Given the description of an element on the screen output the (x, y) to click on. 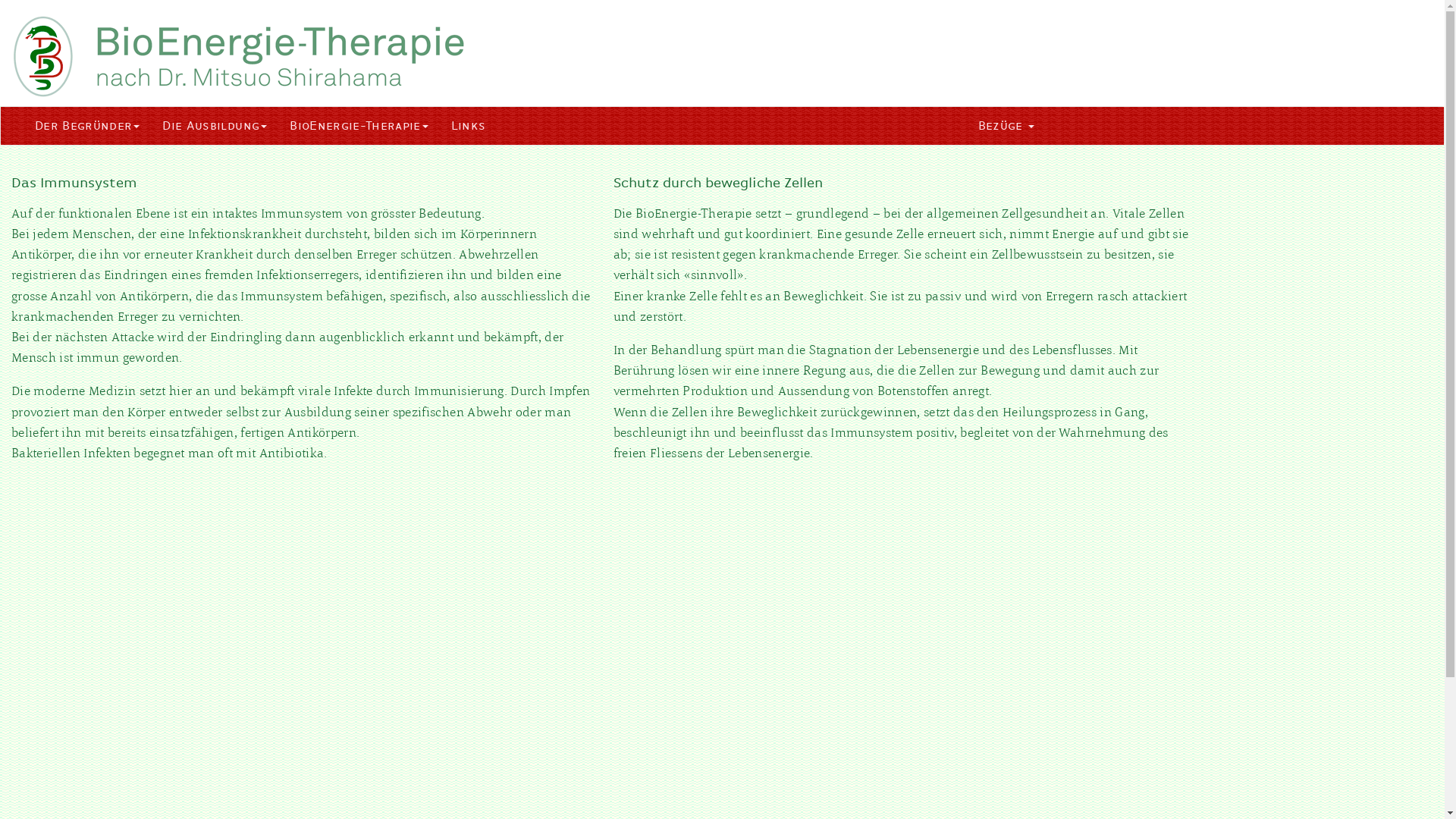
Links Element type: text (468, 125)
Die Ausbildung Element type: text (214, 125)
BioEnergie-Therapie Element type: text (358, 125)
